Given the description of an element on the screen output the (x, y) to click on. 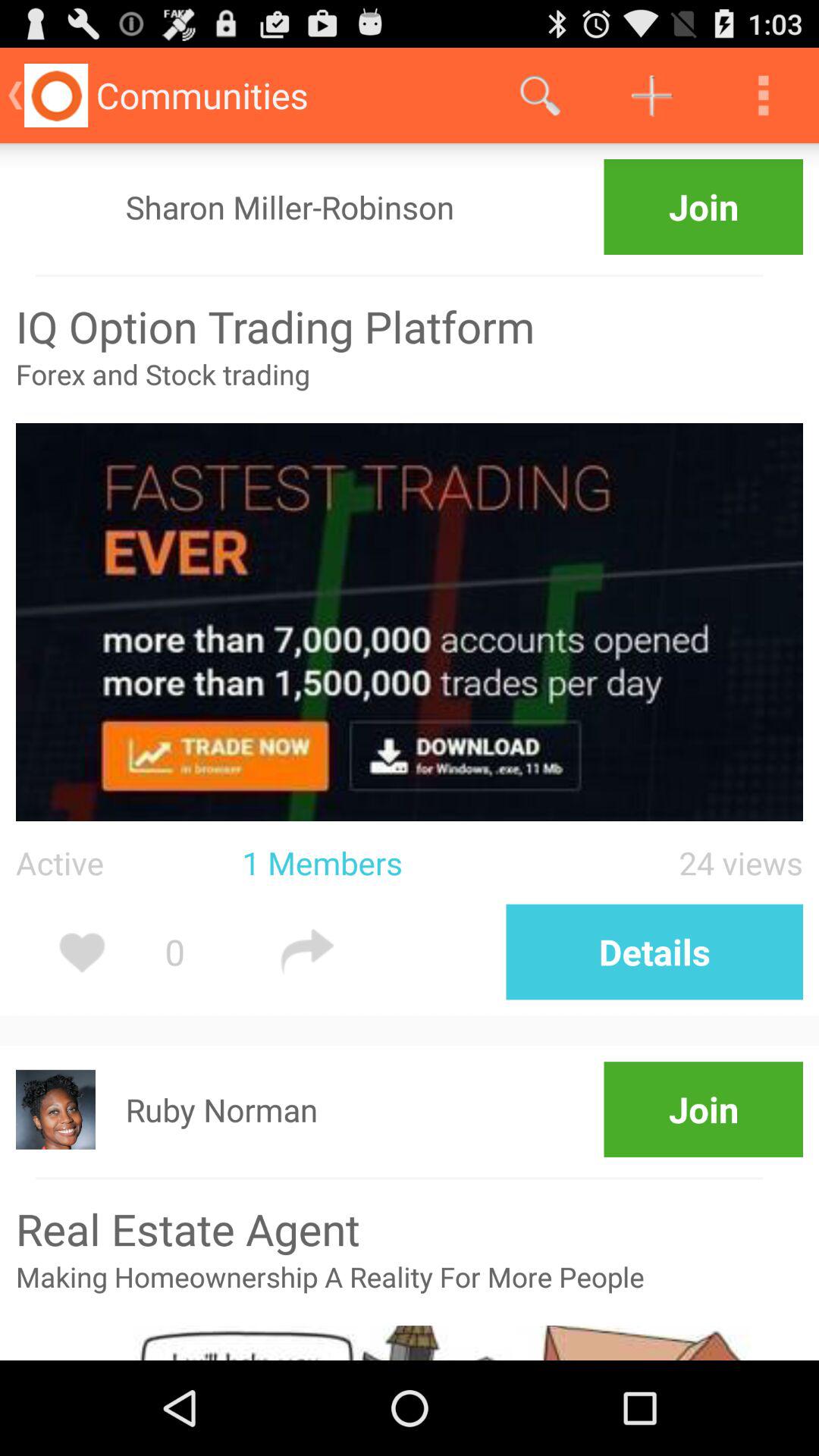
open item next to active (391, 862)
